Given the description of an element on the screen output the (x, y) to click on. 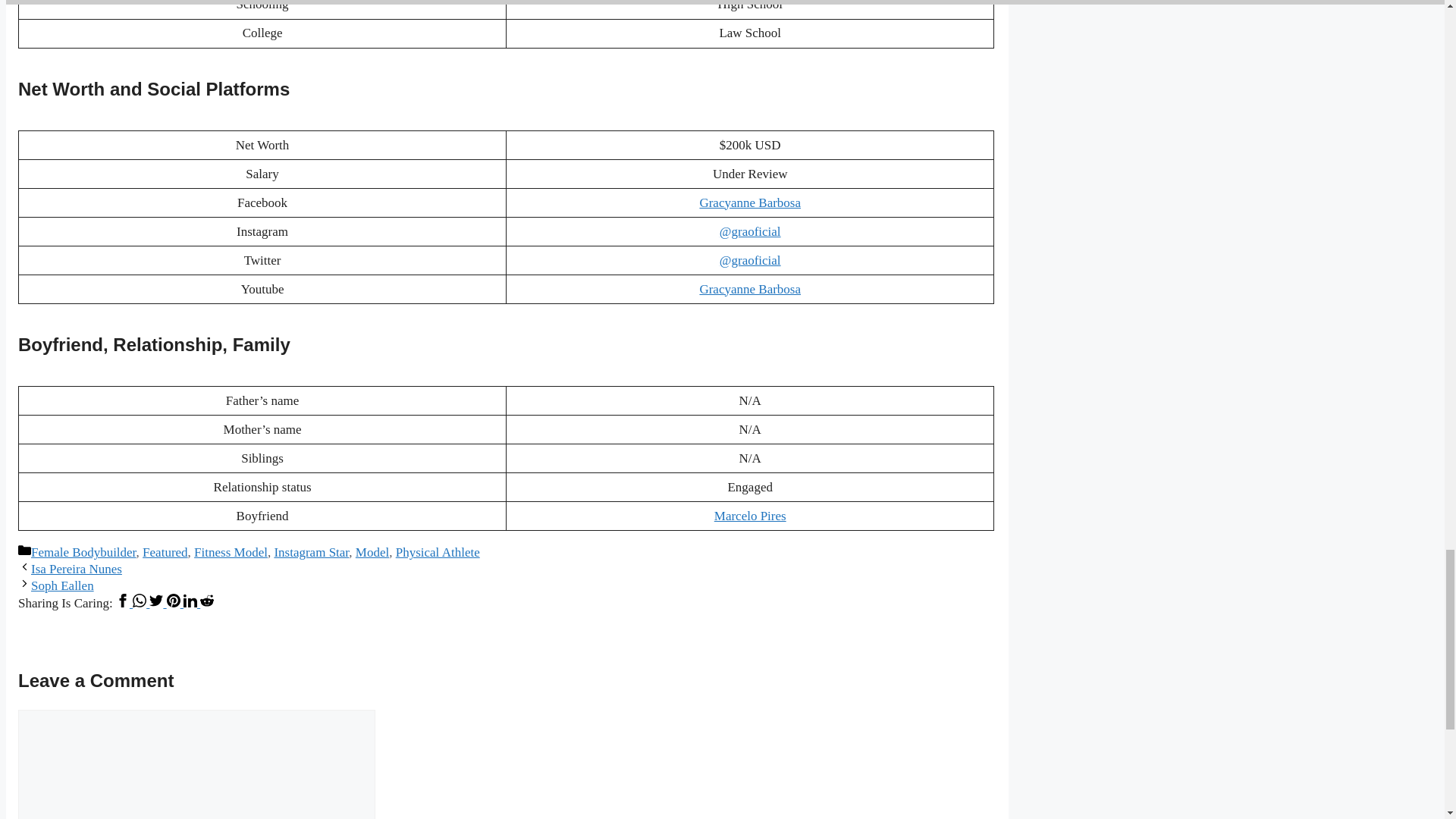
Instagram Star (311, 552)
Model (371, 552)
Gracyanne Barbosa (749, 202)
Featured (164, 552)
Female Bodybuilder (83, 552)
Fitness Model (230, 552)
Isa Pereira Nunes (76, 568)
Gracyanne Barbosa (749, 288)
Soph Eallen (62, 585)
Physical Athlete (438, 552)
Marcelo Pires (750, 515)
